Given the description of an element on the screen output the (x, y) to click on. 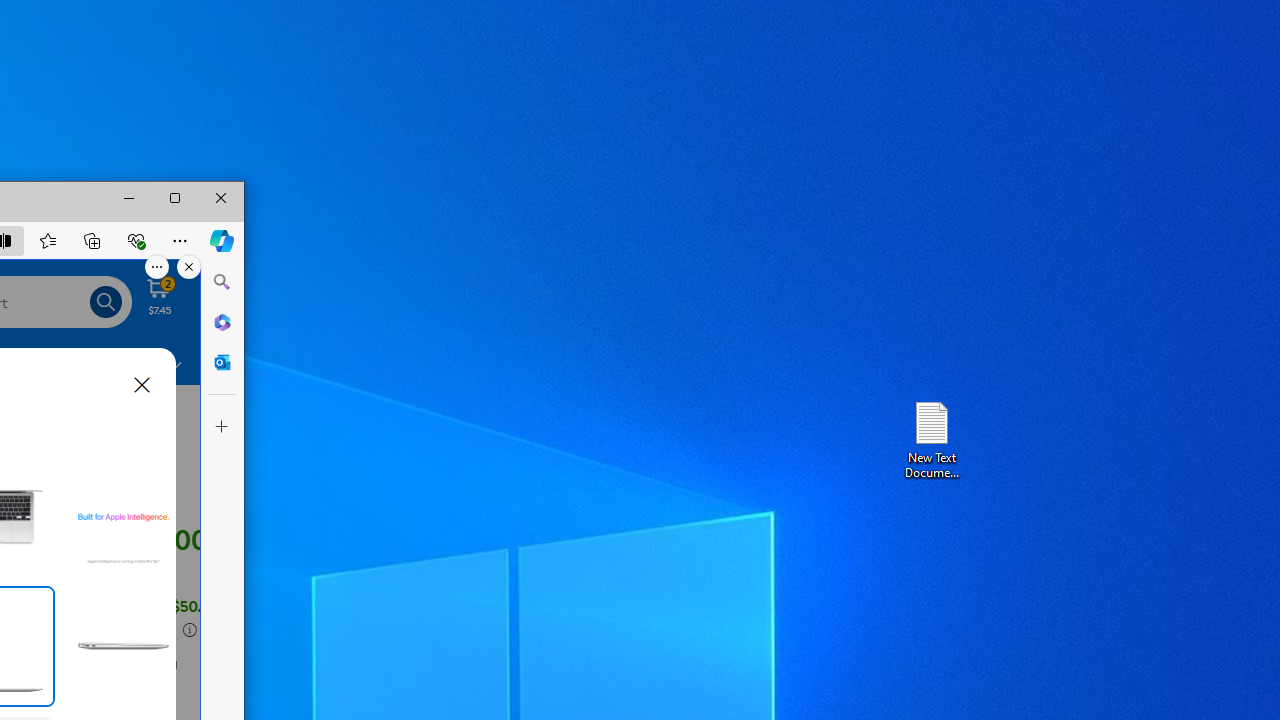
New Text Document (2) (931, 438)
Close Search pane (221, 282)
Close dialog (142, 385)
Close split screen. (188, 266)
Maximize (175, 198)
More options. (156, 266)
